Given the description of an element on the screen output the (x, y) to click on. 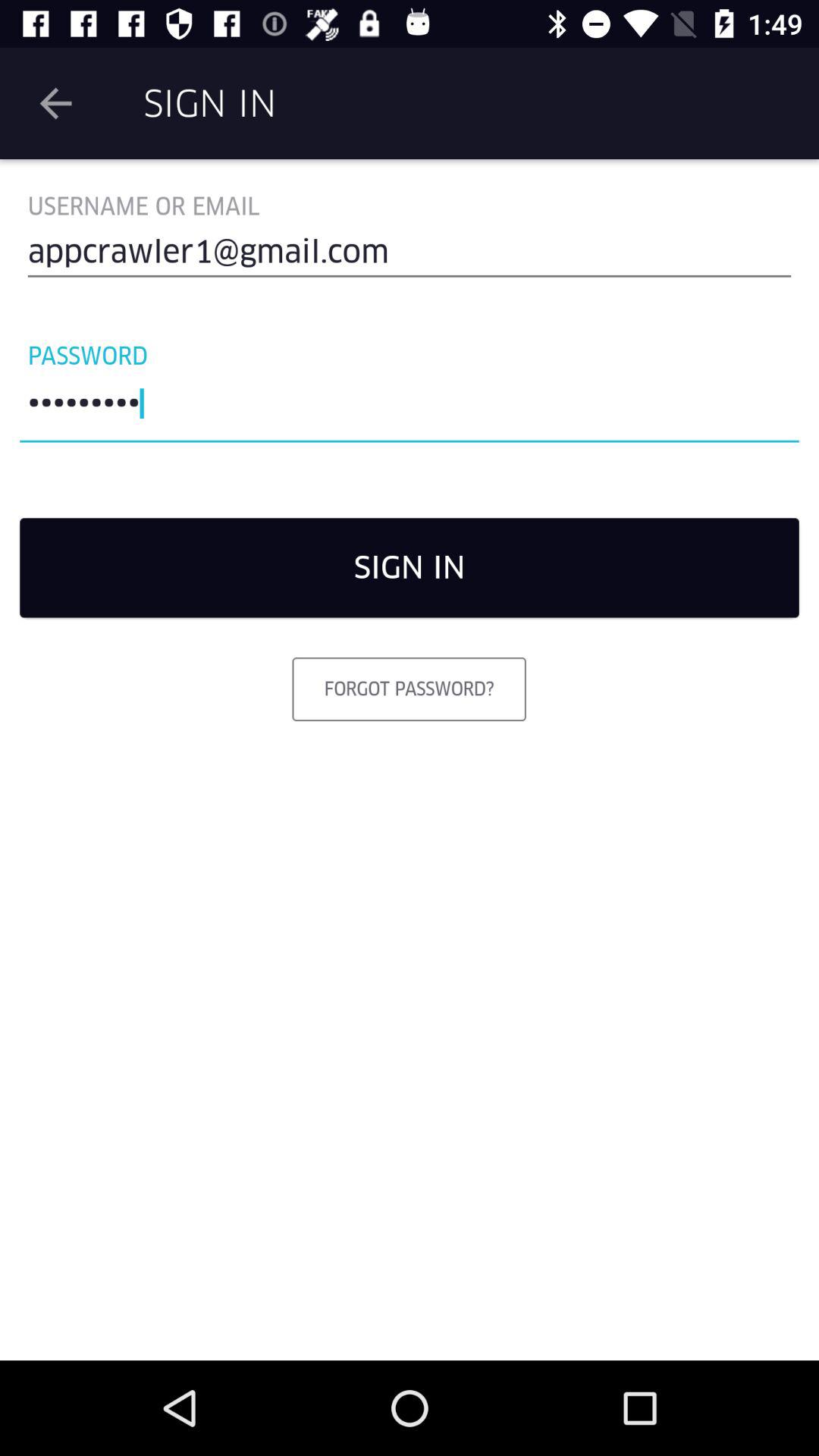
tap the icon below the username or email icon (409, 257)
